Given the description of an element on the screen output the (x, y) to click on. 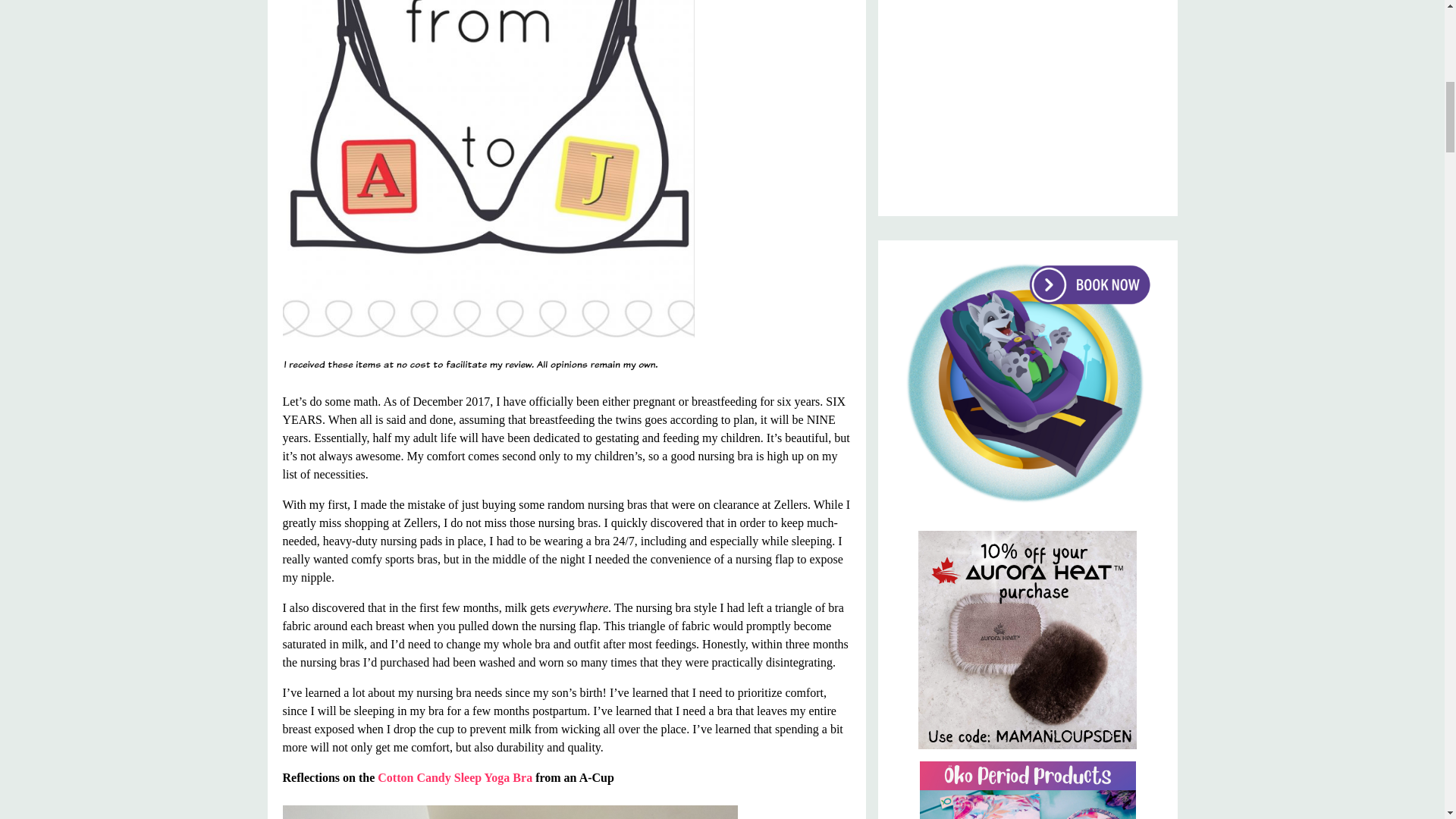
Advertisement (1027, 96)
Cotton Candy Sleep Yoga Bra (454, 777)
